Given the description of an element on the screen output the (x, y) to click on. 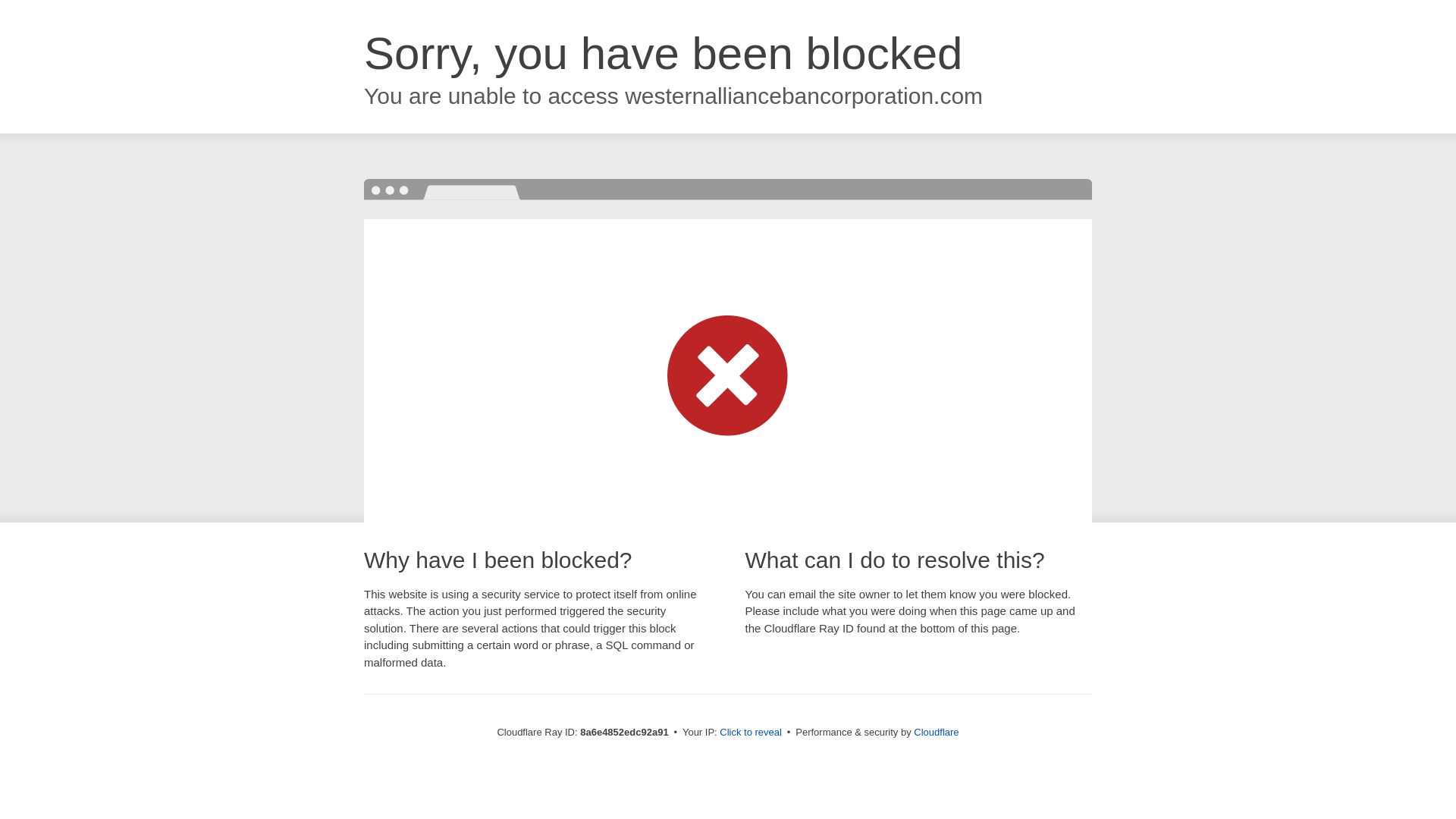
Click to reveal (750, 732)
Cloudflare (936, 731)
